Given the description of an element on the screen output the (x, y) to click on. 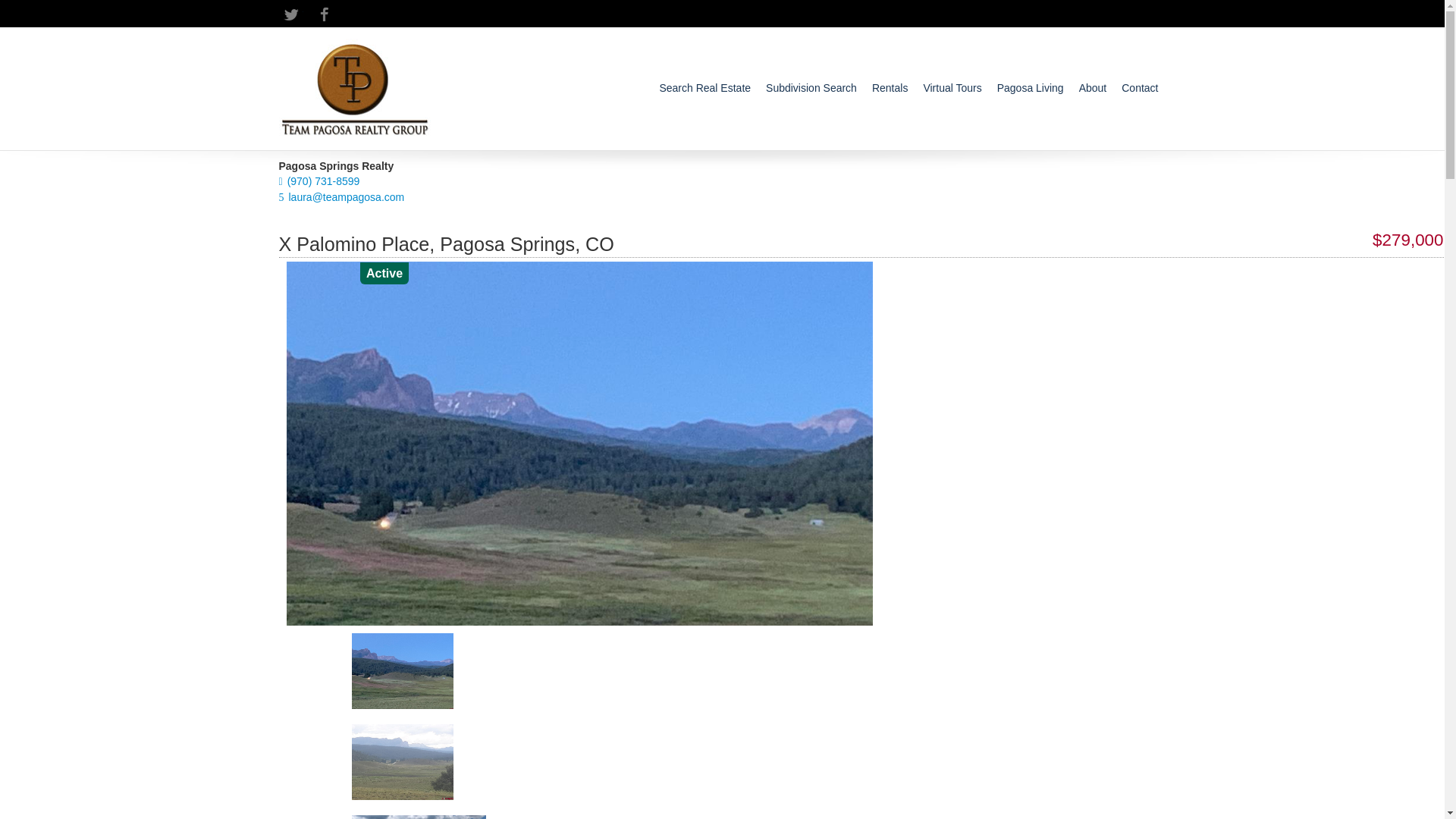
Subdivision Search (811, 87)
Pagosa Living (1030, 87)
Twitter (290, 14)
Search Real Estate (705, 87)
Contact (1139, 87)
Rentals (889, 87)
Virtual Tours (952, 87)
Facebook (324, 14)
